Given the description of an element on the screen output the (x, y) to click on. 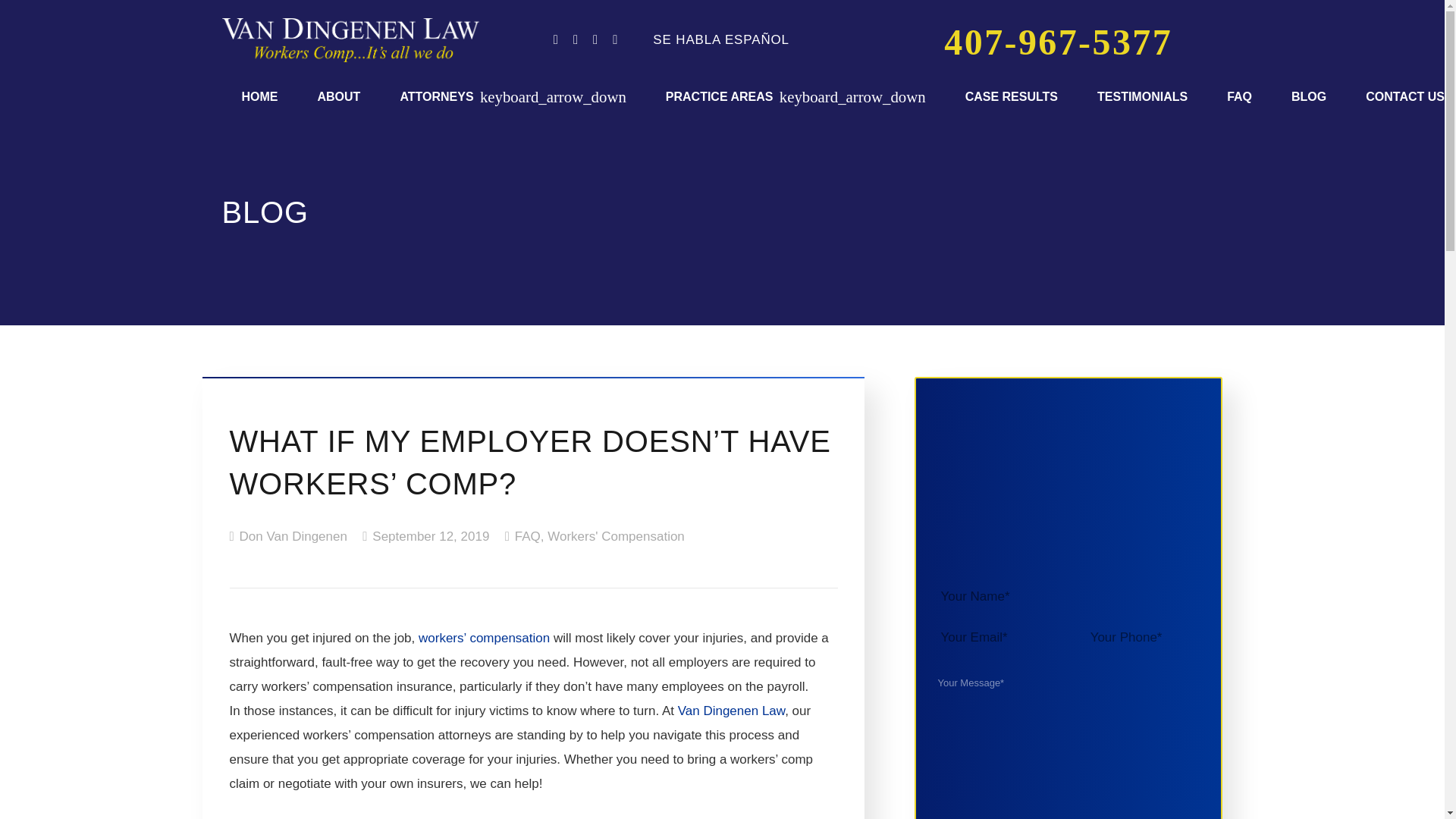
Workers' Compensation (615, 536)
CASE RESULTS (1010, 96)
407-967-5377 (1059, 46)
Don Van Dingenen (293, 536)
BLOG (1308, 96)
FAQ (527, 536)
ATTORNEYS (512, 96)
TESTIMONIALS (1142, 96)
PRACTICE AREAS (795, 96)
ABOUT (338, 96)
